Given the description of an element on the screen output the (x, y) to click on. 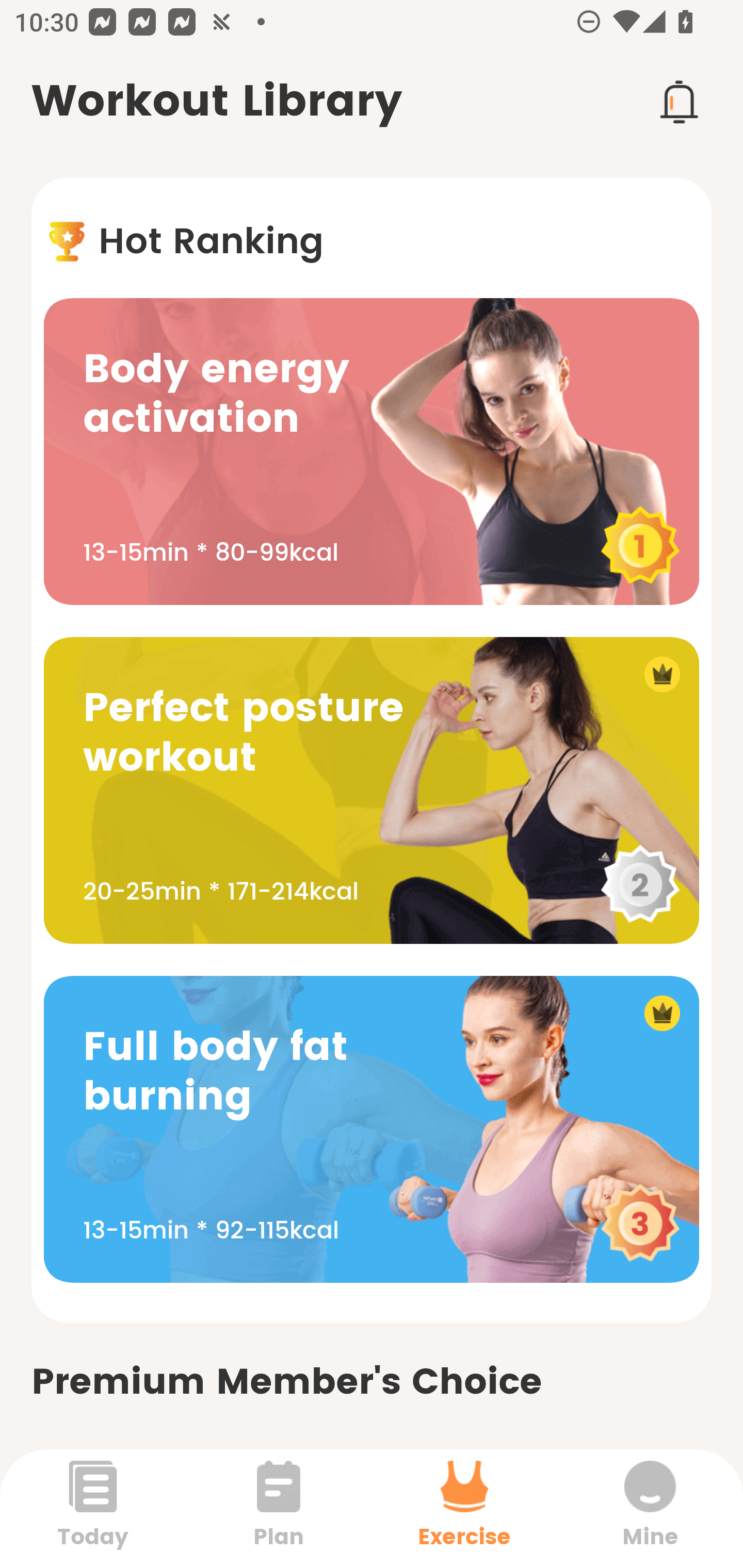
Body energy activation 13-15min * 80-99kcal (371, 451)
Perfect posture workout 20-25min * 171-214kcal (371, 789)
Full body fat burning 13-15min * 92-115kcal (371, 1128)
Today (92, 1508)
Plan (278, 1508)
Mine (650, 1508)
